Given the description of an element on the screen output the (x, y) to click on. 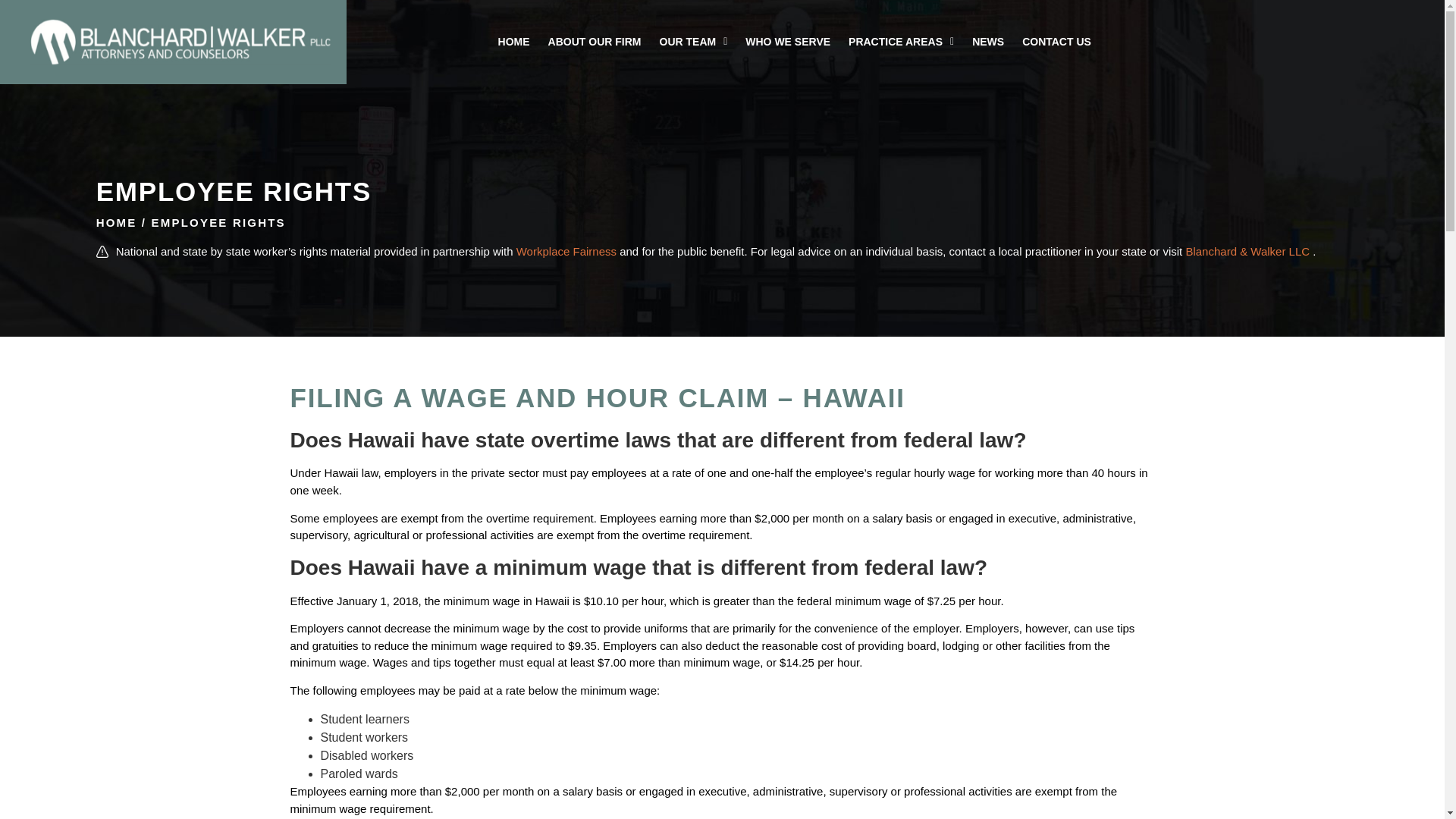
NEWS (987, 41)
WHO WE SERVE (788, 41)
PRACTICE AREAS (901, 41)
CONTACT US (1056, 41)
HOME (513, 41)
ABOUT OUR FIRM (594, 41)
OUR TEAM (693, 41)
